Given the description of an element on the screen output the (x, y) to click on. 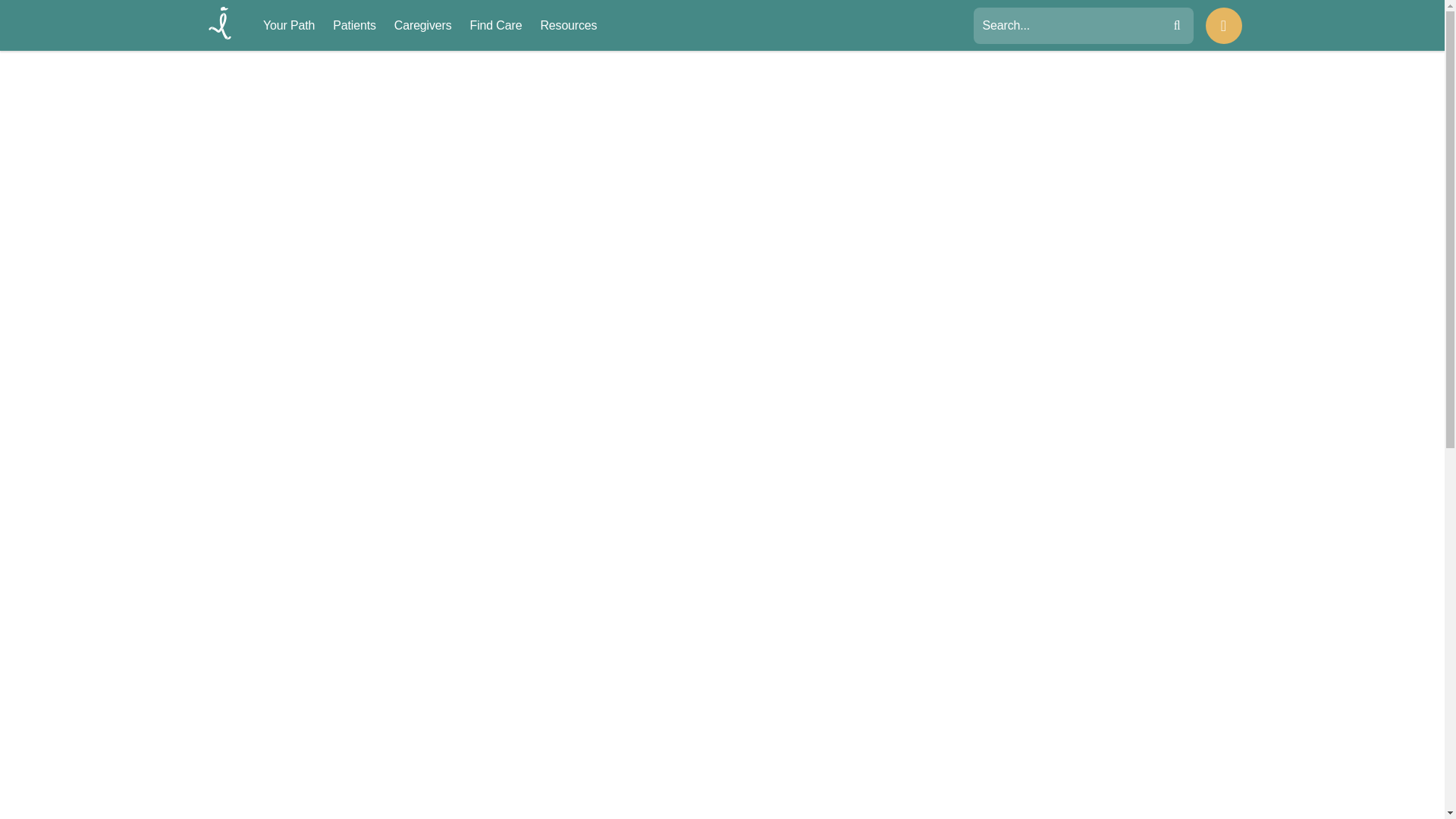
Your Path (288, 25)
Caregivers (422, 25)
Search Site (1061, 25)
Patients (354, 25)
Patients (354, 25)
Resources (568, 25)
Find Care (496, 25)
Resources (568, 25)
Your Path (288, 25)
